Given the description of an element on the screen output the (x, y) to click on. 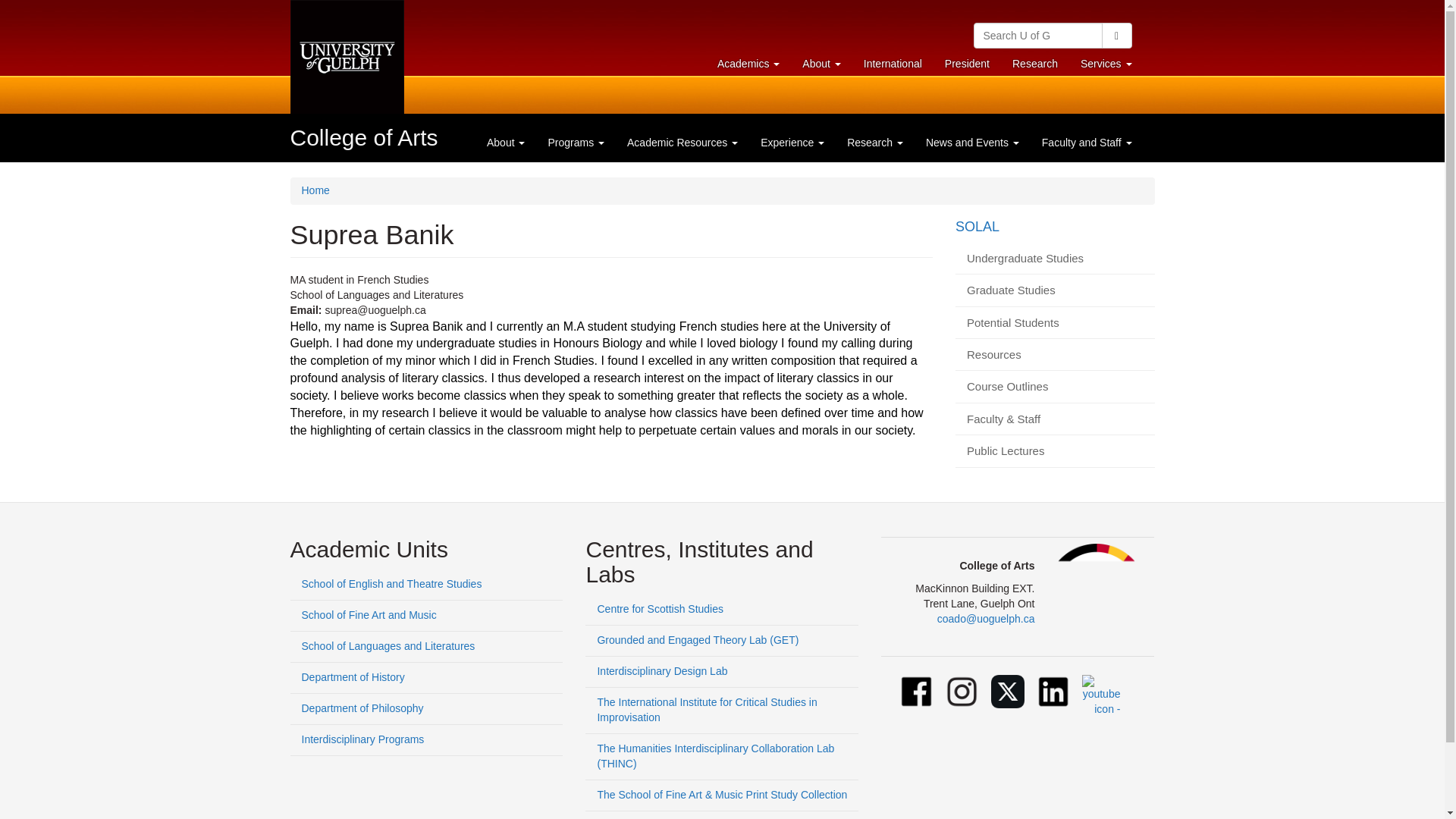
Home (748, 63)
President (820, 63)
International (1105, 63)
Search (364, 137)
